Given the description of an element on the screen output the (x, y) to click on. 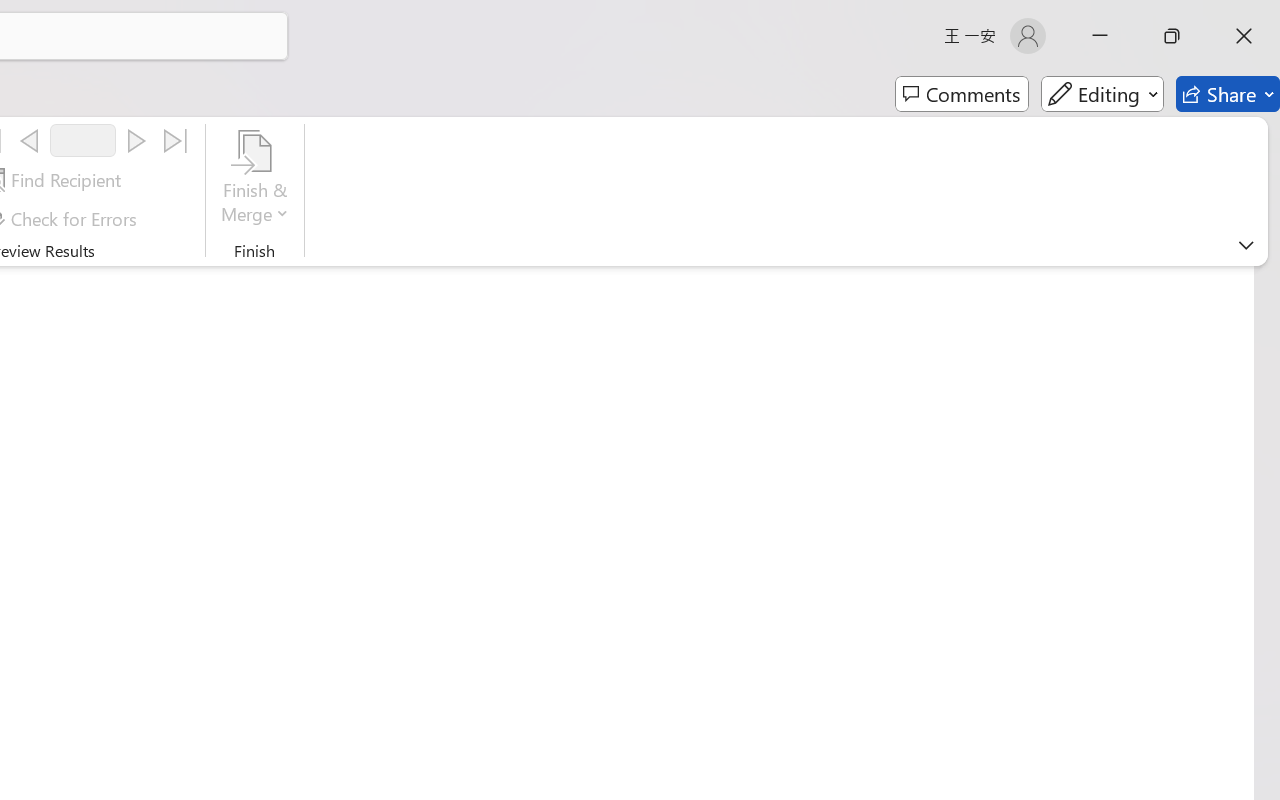
Previous (29, 141)
Minimize (1099, 36)
Share (1228, 94)
Finish & Merge (255, 179)
Ribbon Display Options (1246, 245)
Next (136, 141)
Record (83, 140)
Editing (1101, 94)
Close (1244, 36)
Restore Down (1172, 36)
Last (175, 141)
Comments (961, 94)
